Given the description of an element on the screen output the (x, y) to click on. 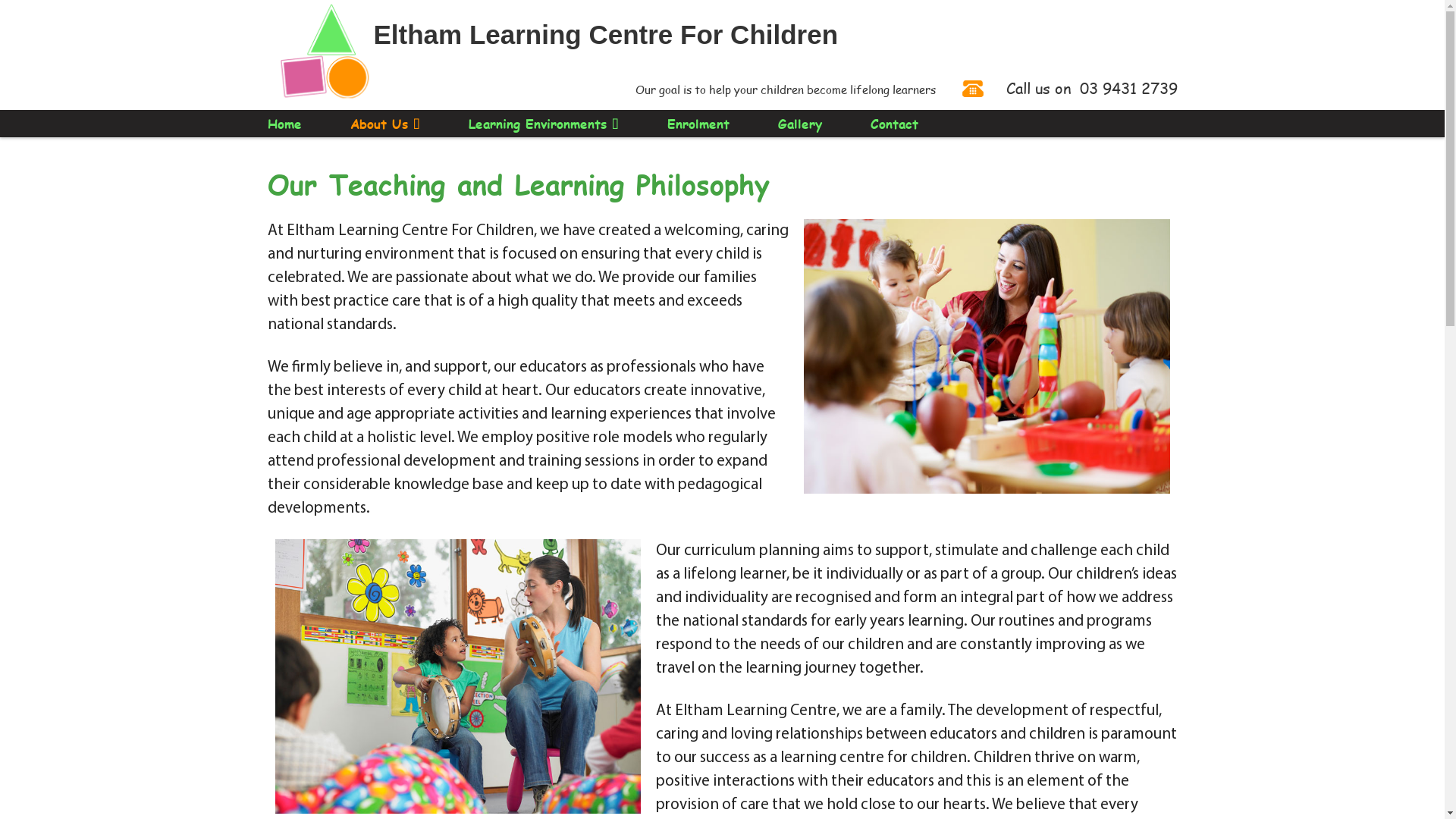
Enrolment Element type: text (698, 123)
03 9431 2739 Element type: text (1128, 87)
Contact Element type: text (894, 123)
Home Element type: text (283, 123)
Gallery Element type: text (800, 123)
